Given the description of an element on the screen output the (x, y) to click on. 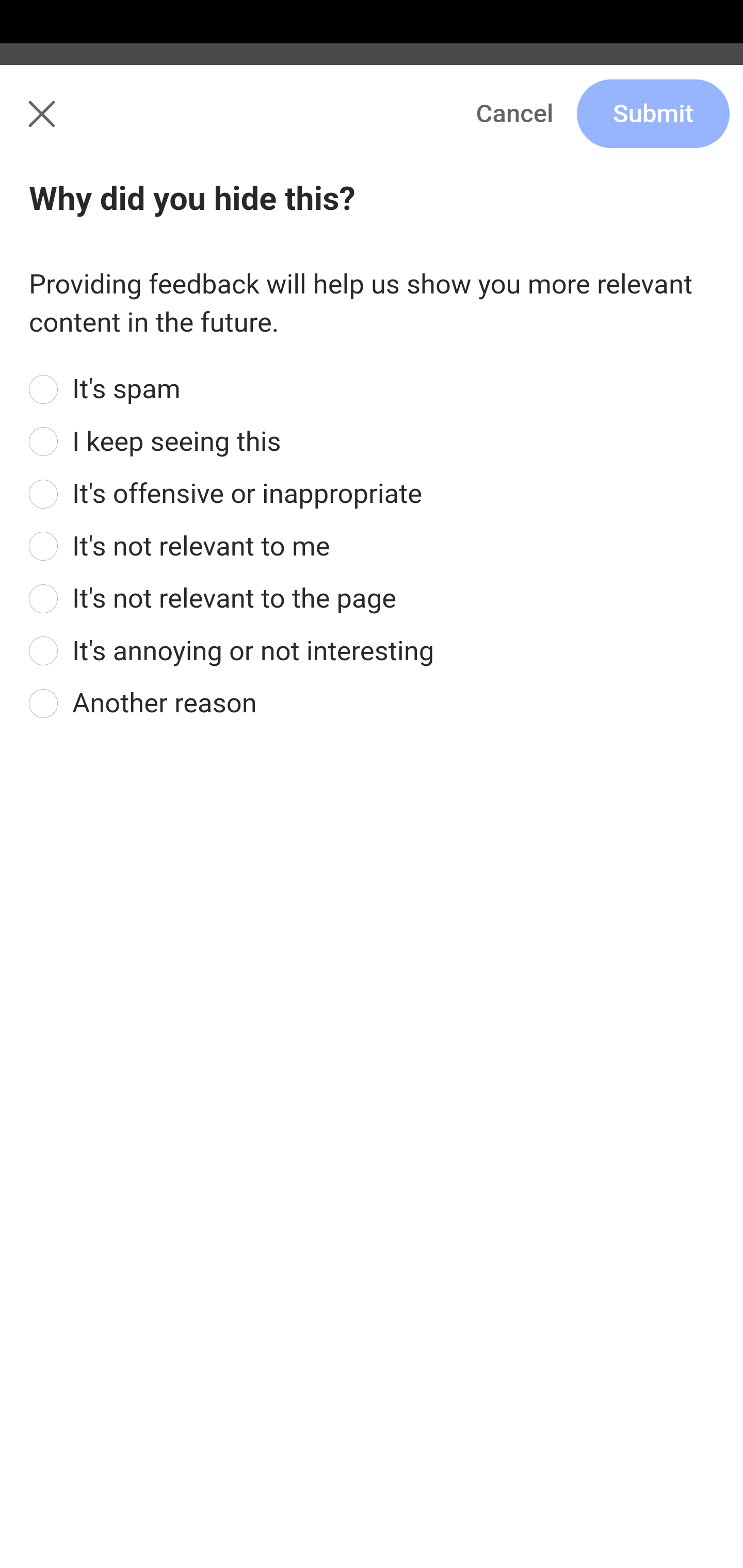
Back (371, 125)
Back (30, 125)
